Given the description of an element on the screen output the (x, y) to click on. 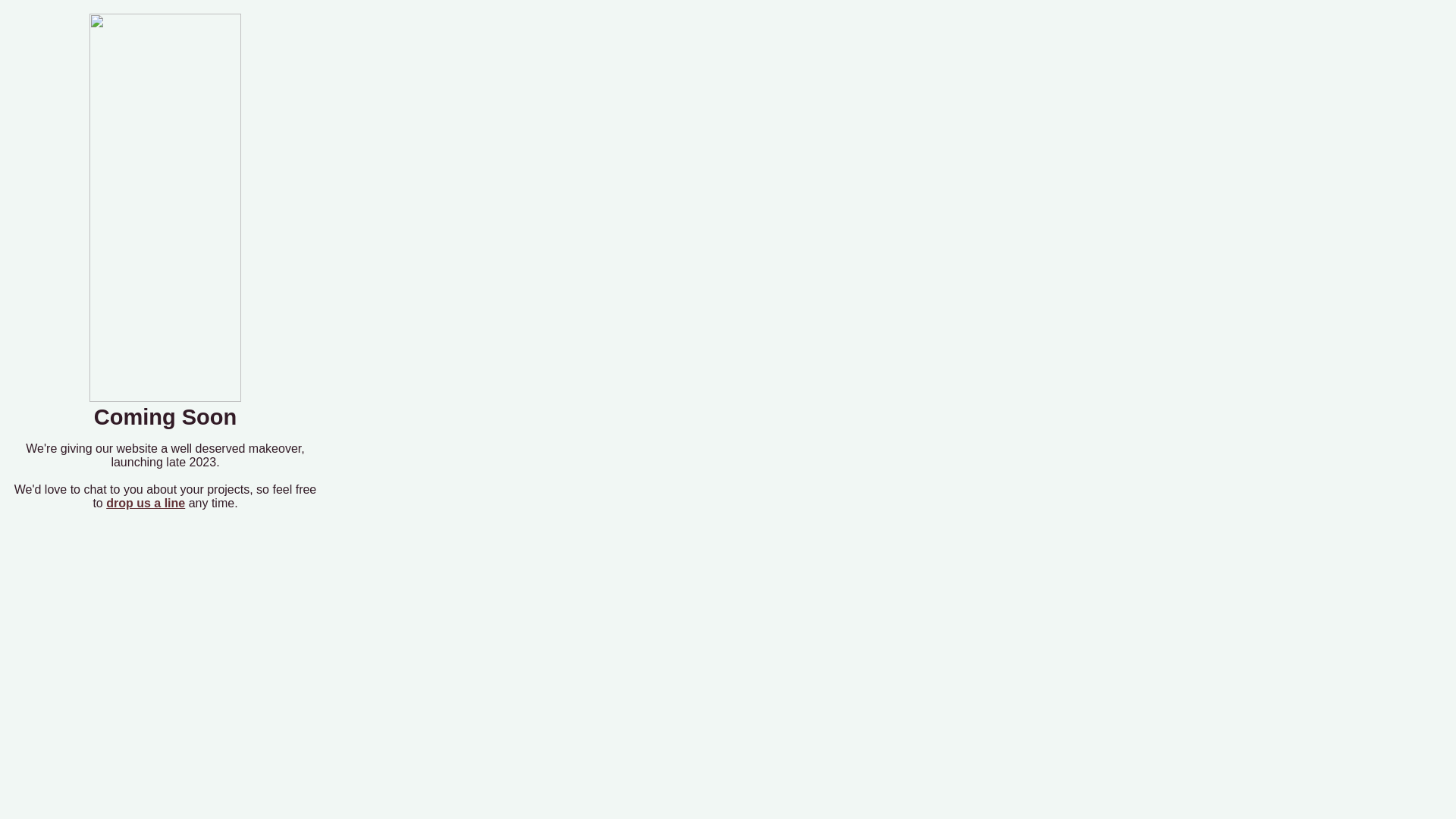
drop us a line Element type: text (145, 502)
